Given the description of an element on the screen output the (x, y) to click on. 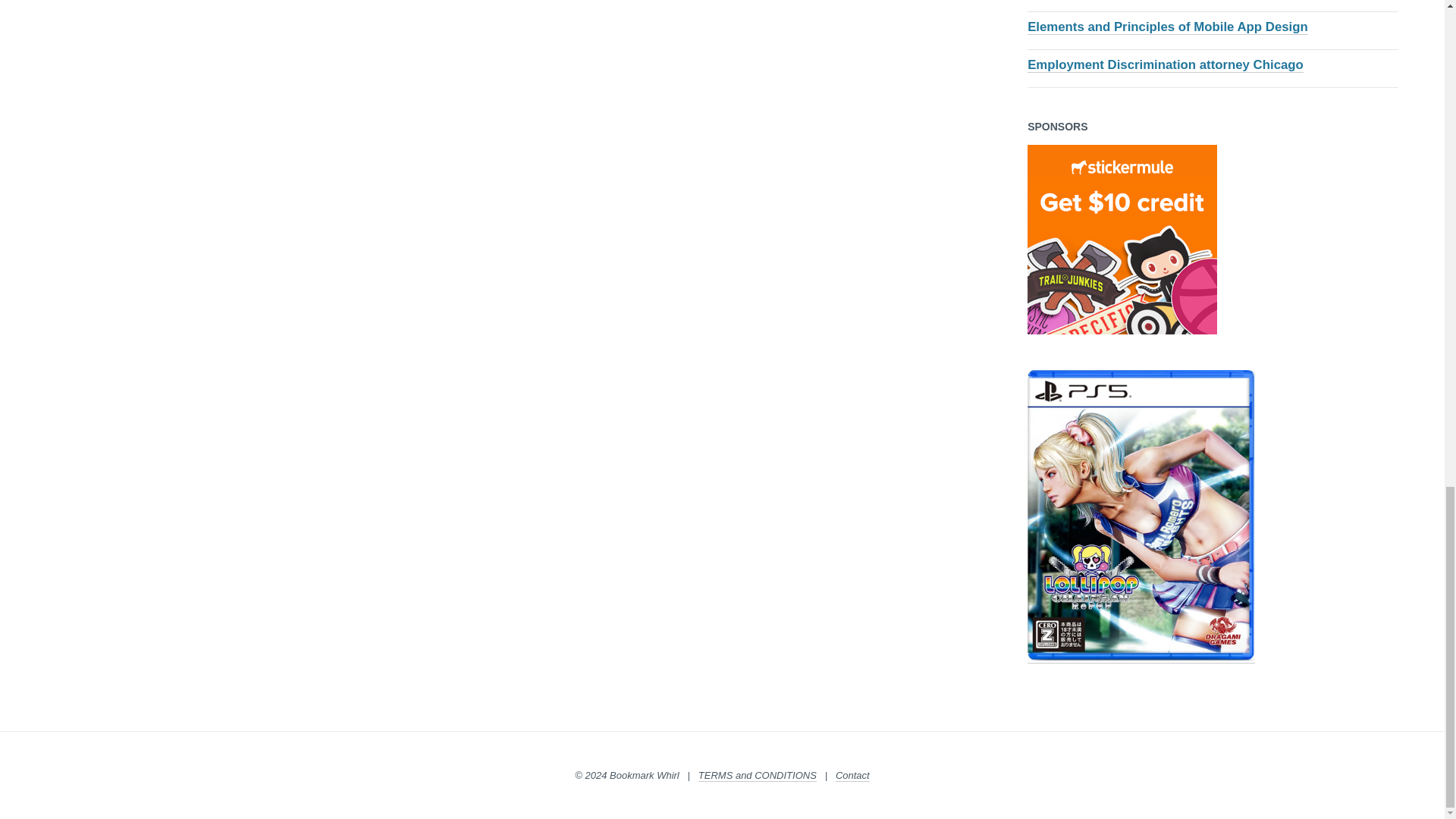
TERMS and CONDITIONS (757, 775)
Employment Discrimination attorney Chicago (1165, 64)
Elements and Principles of Mobile App Design (1167, 27)
Contact (852, 775)
